Given the description of an element on the screen output the (x, y) to click on. 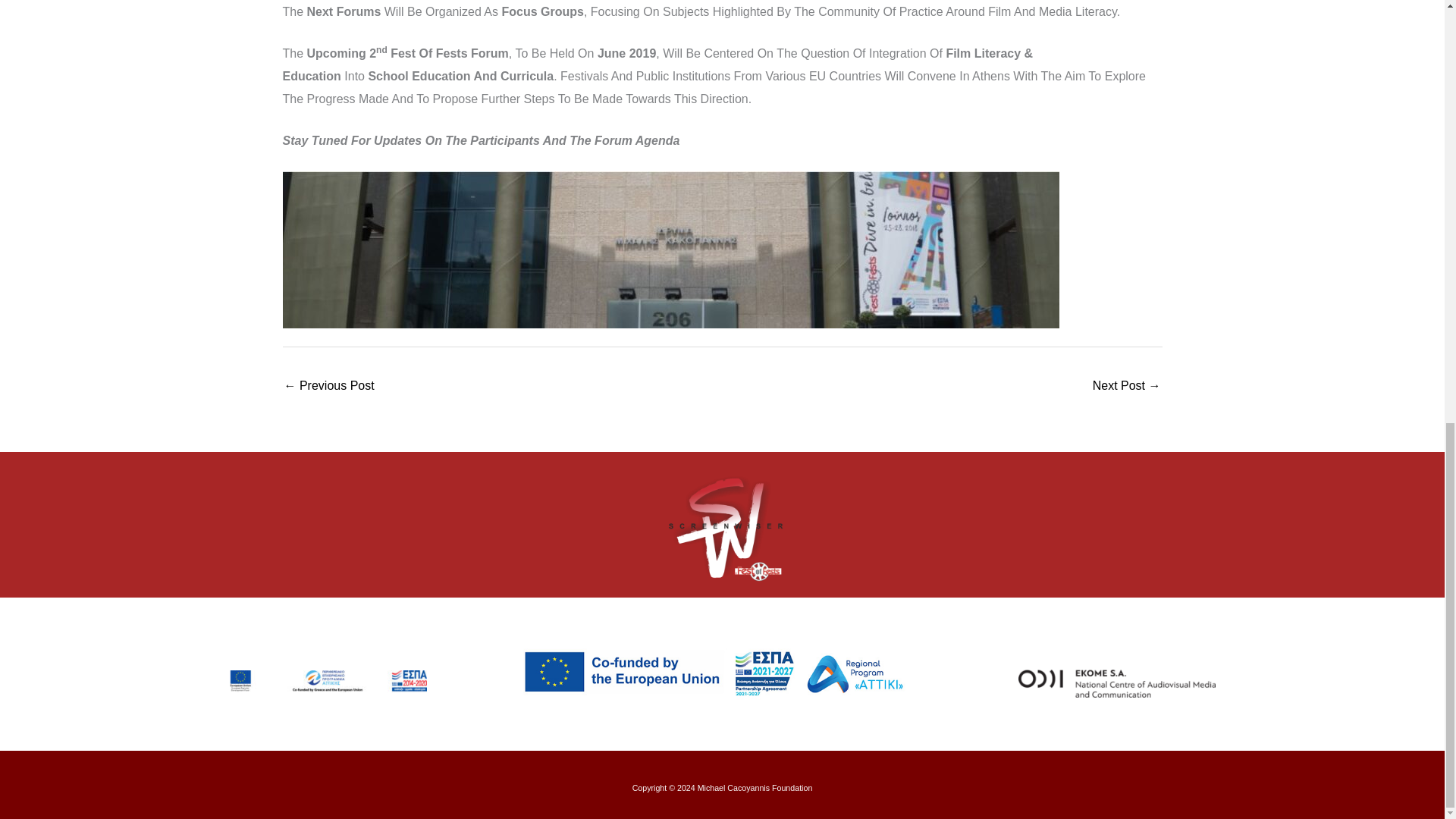
Film Literacy Seminar: Exploring Visual Culture (1126, 387)
